Given the description of an element on the screen output the (x, y) to click on. 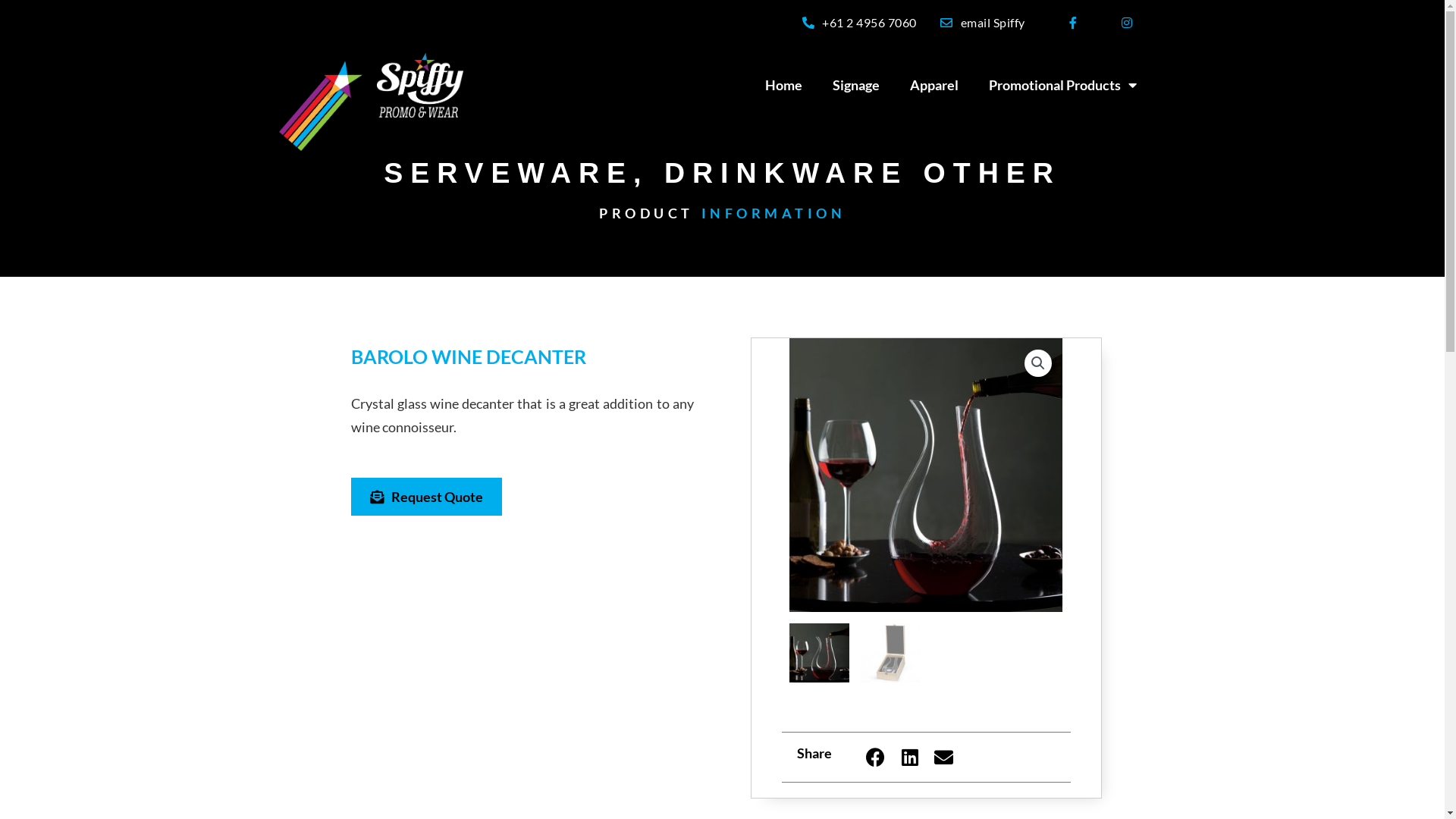
Apparel Element type: text (933, 84)
Facebook-f Element type: text (1073, 22)
+61 2 4956 7060 Element type: text (857, 22)
Home Element type: text (783, 84)
POBWD barolo wine decanter lifestyle resized Element type: hover (926, 474)
Promotional Products Element type: text (1062, 84)
Instagram Element type: text (1126, 22)
SERVEWARE Element type: text (508, 172)
email Spiffy Element type: text (980, 22)
Request Quote Element type: text (425, 496)
DRINKWARE OTHER Element type: text (862, 172)
Signage Element type: text (855, 84)
